Given the description of an element on the screen output the (x, y) to click on. 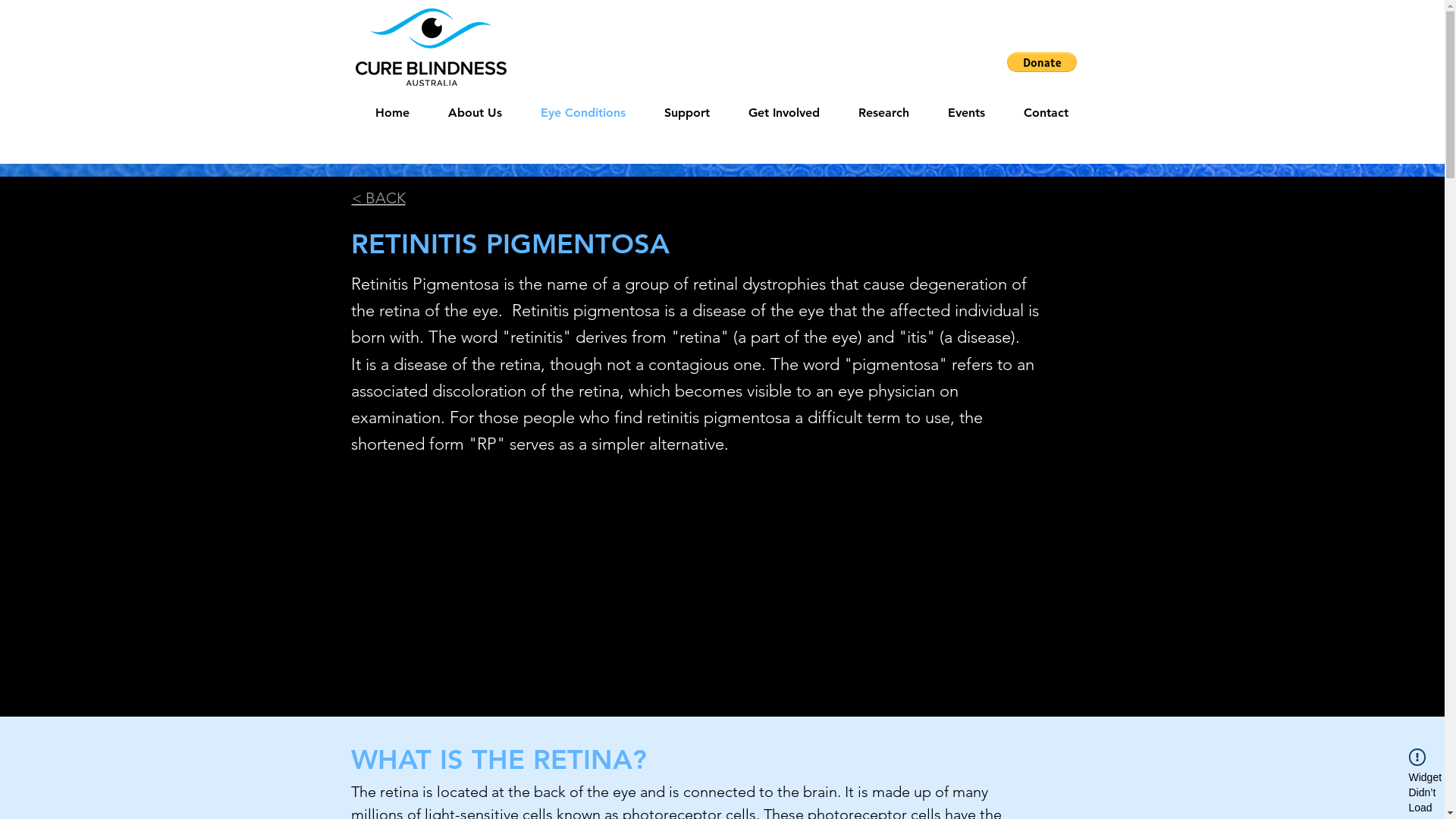
Eye Conditions Element type: text (583, 112)
Get Involved Element type: text (784, 112)
Home Element type: text (391, 112)
Support Element type: text (686, 112)
About Us Element type: text (475, 112)
< BACK Element type: text (378, 197)
Contact Element type: text (1045, 112)
Events Element type: text (966, 112)
Research Element type: text (883, 112)
